Given the description of an element on the screen output the (x, y) to click on. 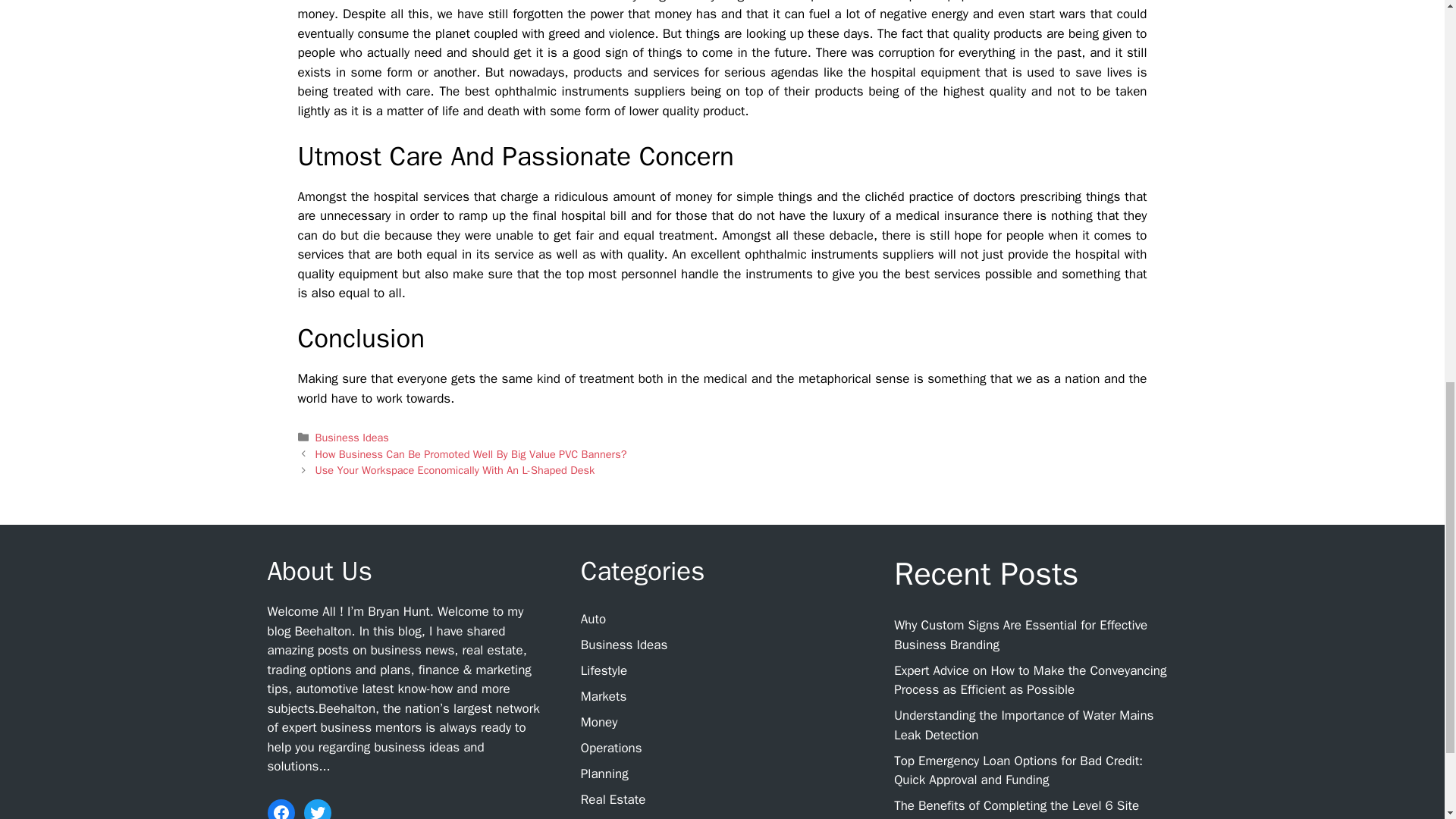
Understanding the Importance of Water Mains Leak Detection (1023, 724)
How Business Can Be Promoted Well By Big Value PVC Banners? (471, 454)
Business Ideas (351, 437)
Auto (592, 618)
Planning (604, 773)
Business Ideas (623, 644)
Operations (611, 747)
Money (598, 722)
Twitter (316, 809)
